Given the description of an element on the screen output the (x, y) to click on. 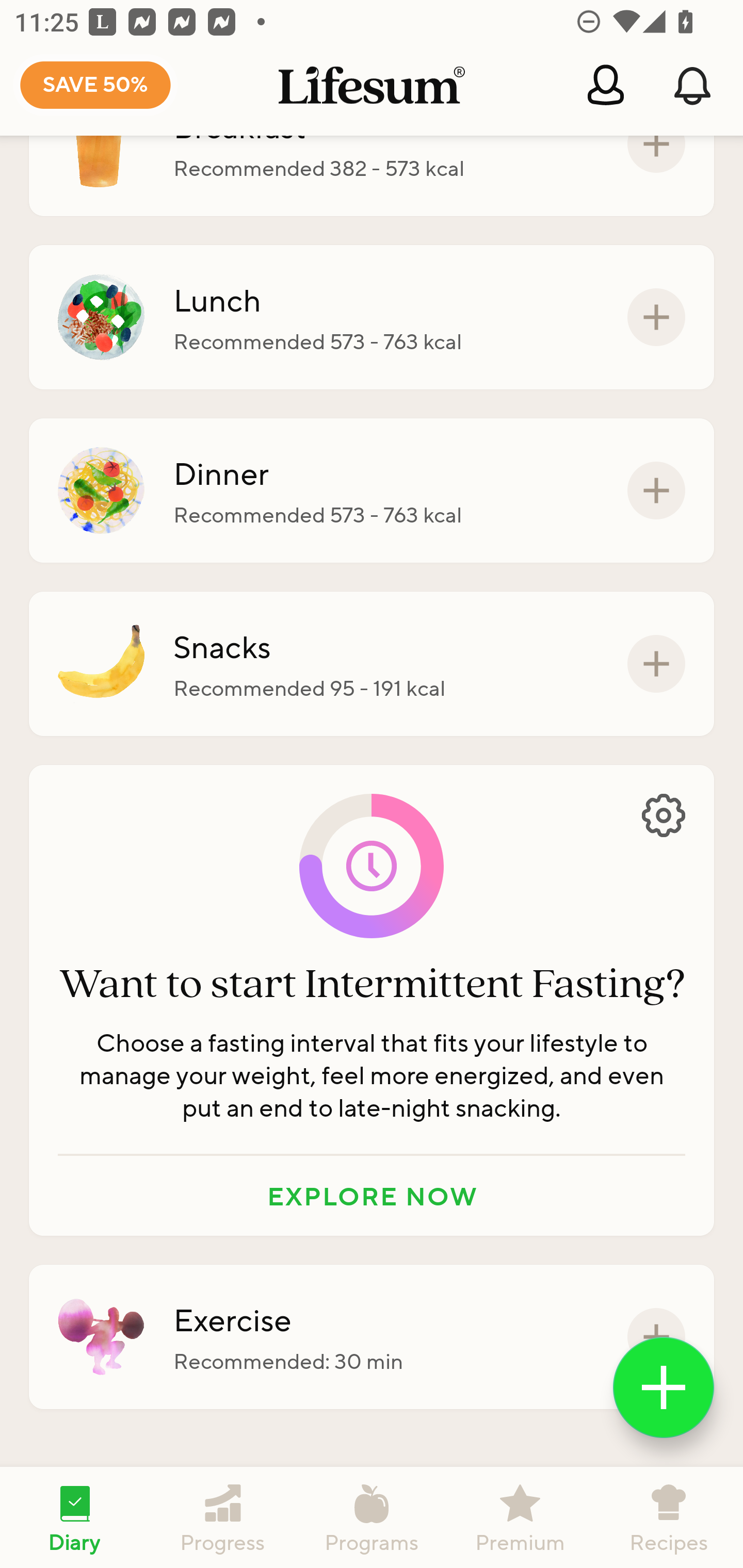
Lunch Recommended 573 - 763 kcal (371, 316)
Dinner Recommended 573 - 763 kcal (371, 490)
Snacks Recommended 95 - 191 kcal (371, 663)
EXPLORE NOW (371, 1195)
Exercise Recommended: 30 min (371, 1337)
Progress (222, 1517)
Programs (371, 1517)
Premium (519, 1517)
Recipes (668, 1517)
